Given the description of an element on the screen output the (x, y) to click on. 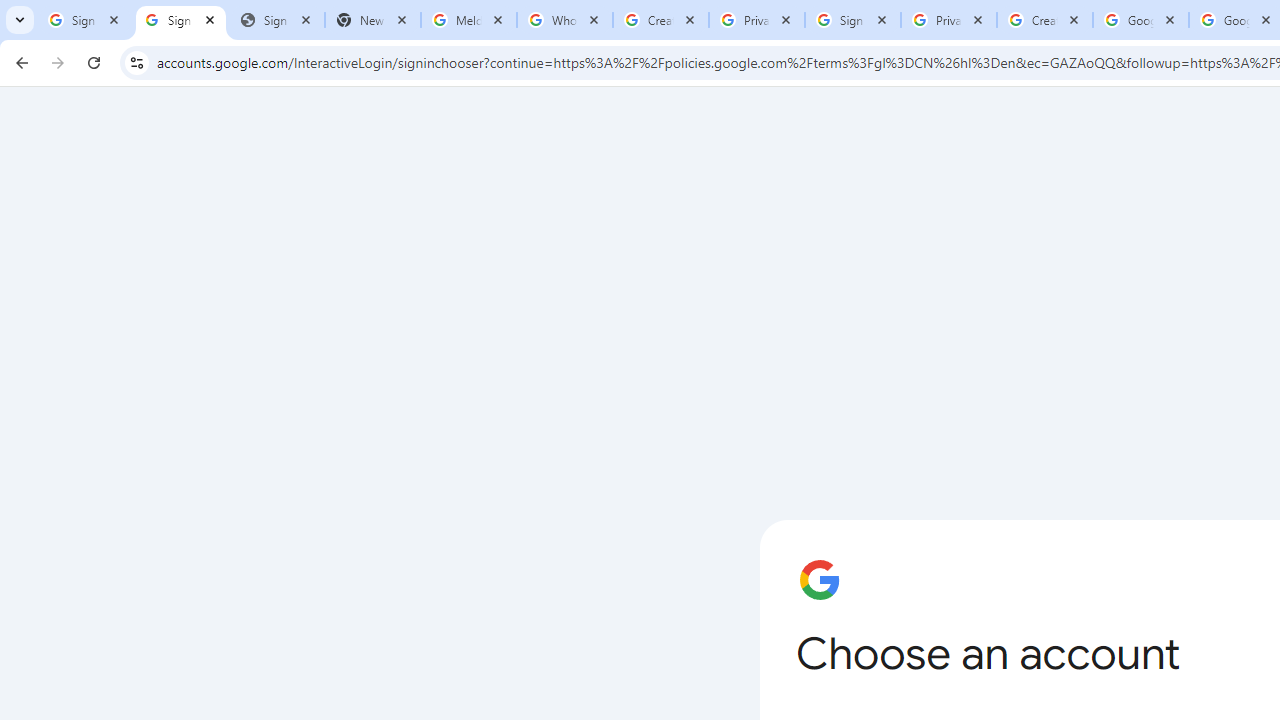
Sign in - Google Accounts (853, 20)
